Given the description of an element on the screen output the (x, y) to click on. 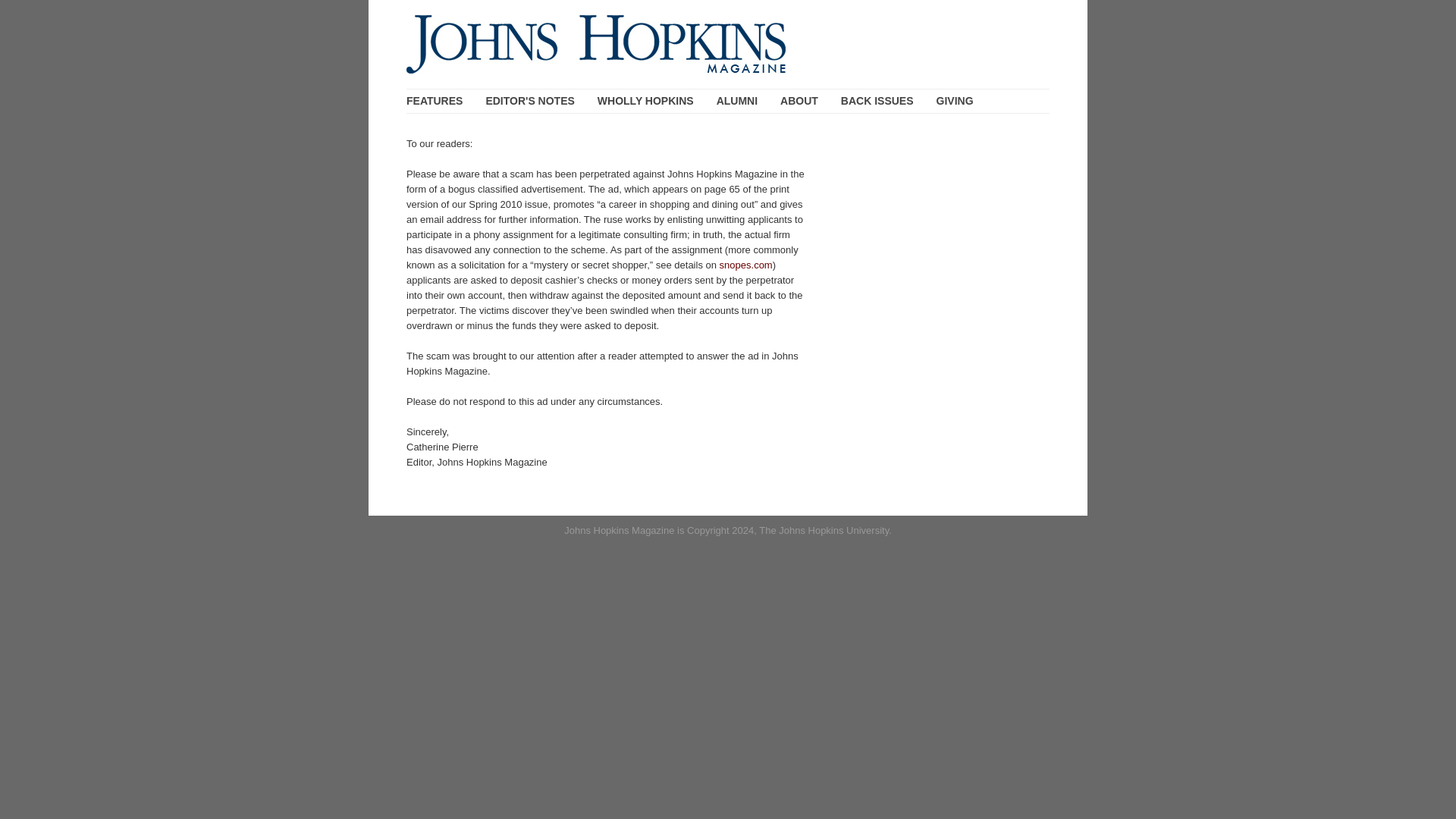
snopes.com (746, 265)
WHOLLY HOPKINS (645, 101)
GIVING (955, 101)
BACK ISSUES (877, 101)
ALUMNI (736, 101)
EDITOR'S NOTES (528, 101)
FEATURES (434, 101)
ABOUT (799, 101)
